Given the description of an element on the screen output the (x, y) to click on. 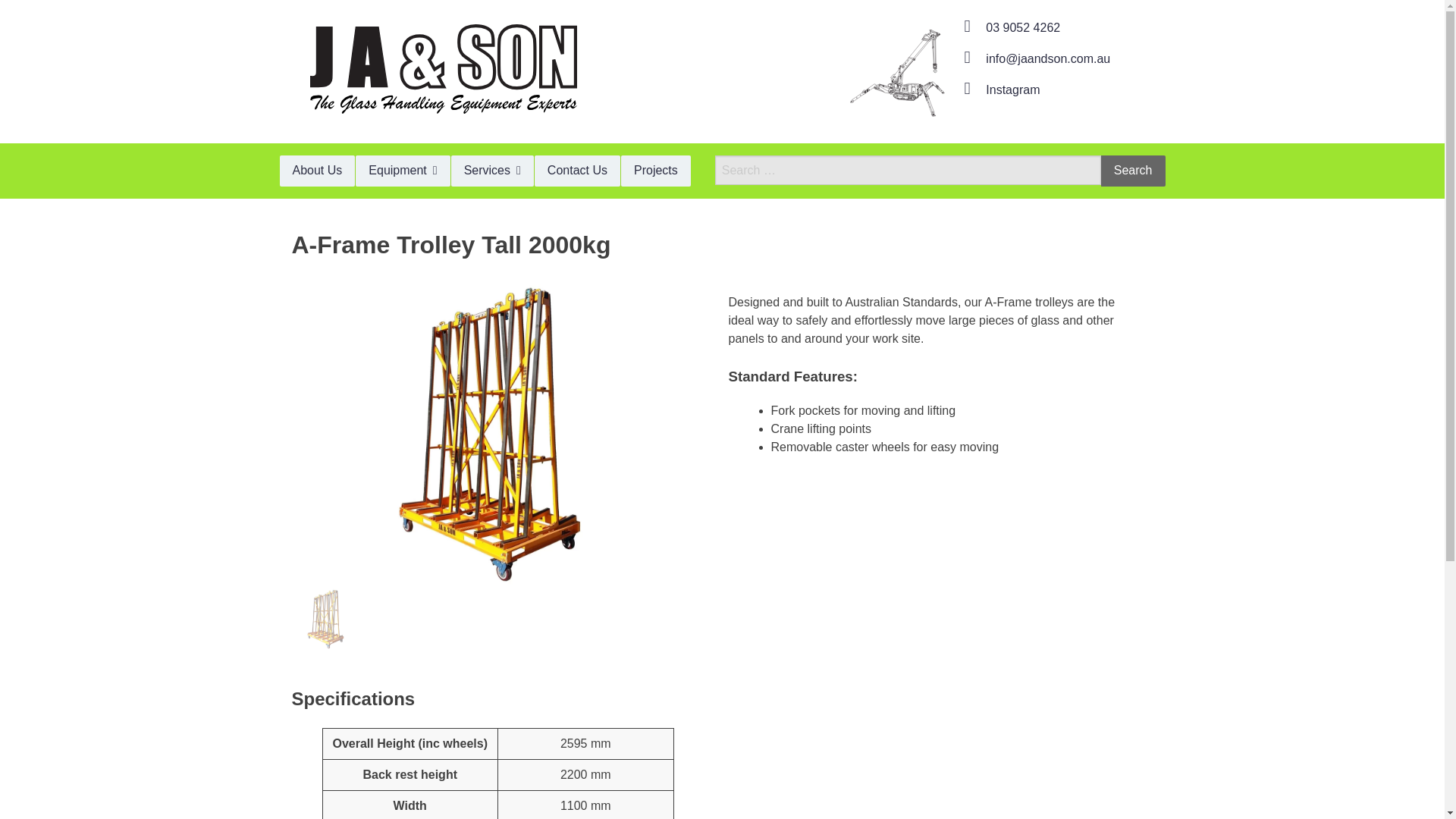
Search (1133, 170)
Instagram (998, 89)
About Us (317, 170)
Contact Us (577, 170)
Search (1133, 170)
Projects (655, 170)
Services (492, 170)
Equipment (402, 170)
Toggle dropdown (492, 170)
Toggle dropdown (402, 170)
